Given the description of an element on the screen output the (x, y) to click on. 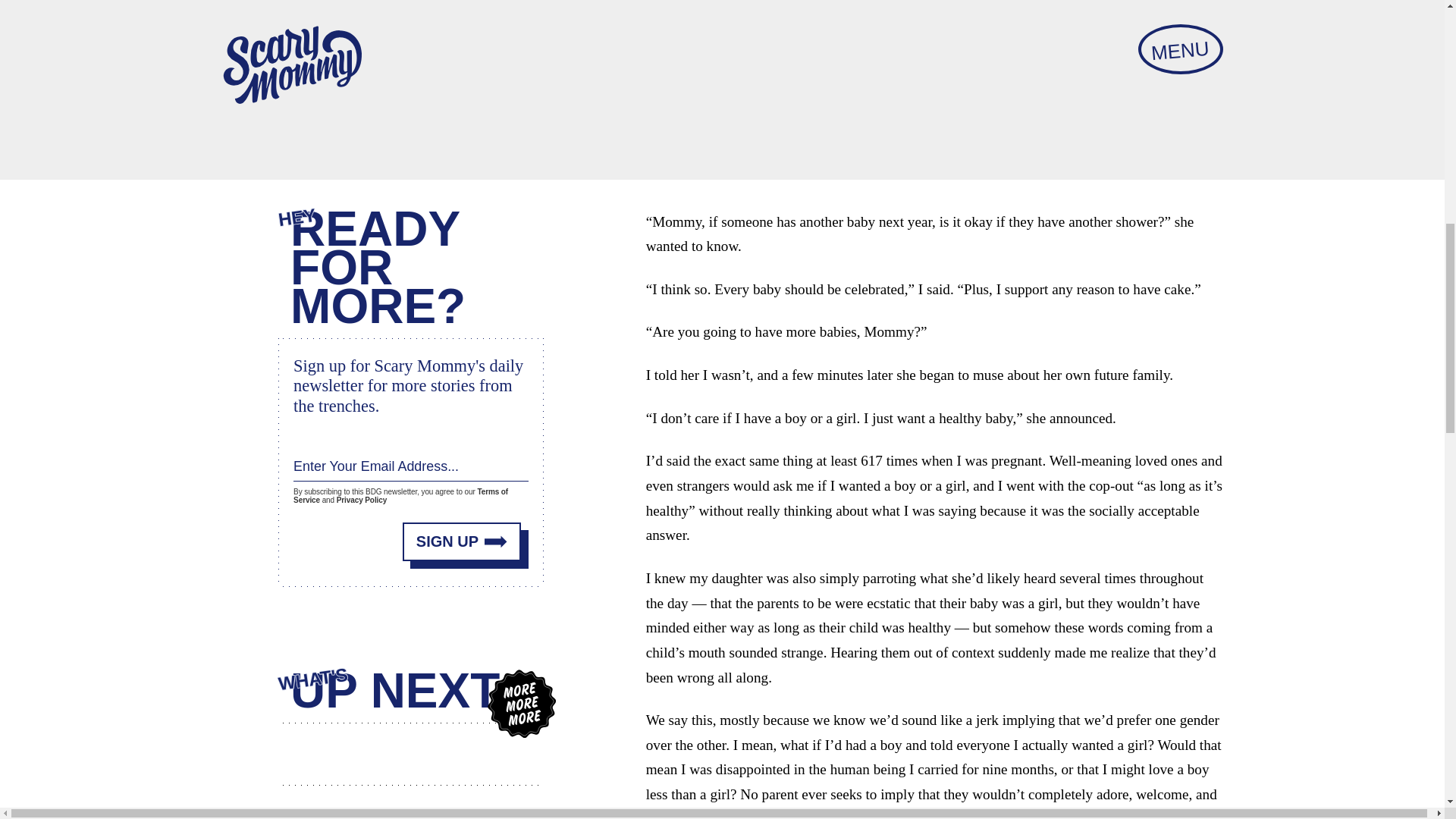
SIGN UP (462, 540)
Privacy Policy (361, 500)
Terms of Service (401, 495)
